Given the description of an element on the screen output the (x, y) to click on. 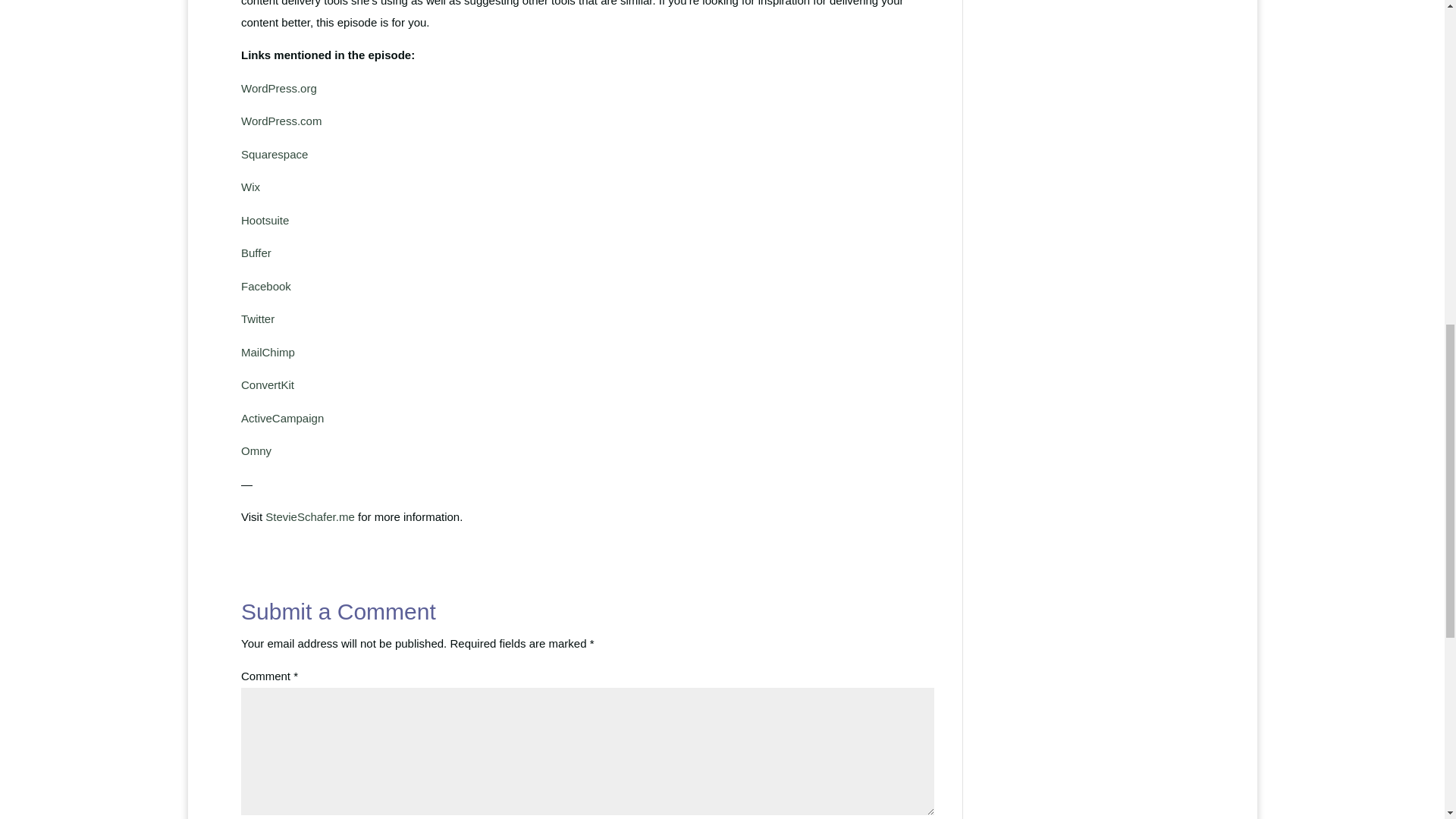
Wix (250, 186)
Omny (255, 450)
Buffer (255, 252)
WordPress.com (281, 120)
ConvertKit (267, 384)
Squarespace (274, 154)
ActiveCampaign (282, 418)
MailChimp (268, 351)
Hootsuite (264, 219)
Twitter (258, 318)
